Given the description of an element on the screen output the (x, y) to click on. 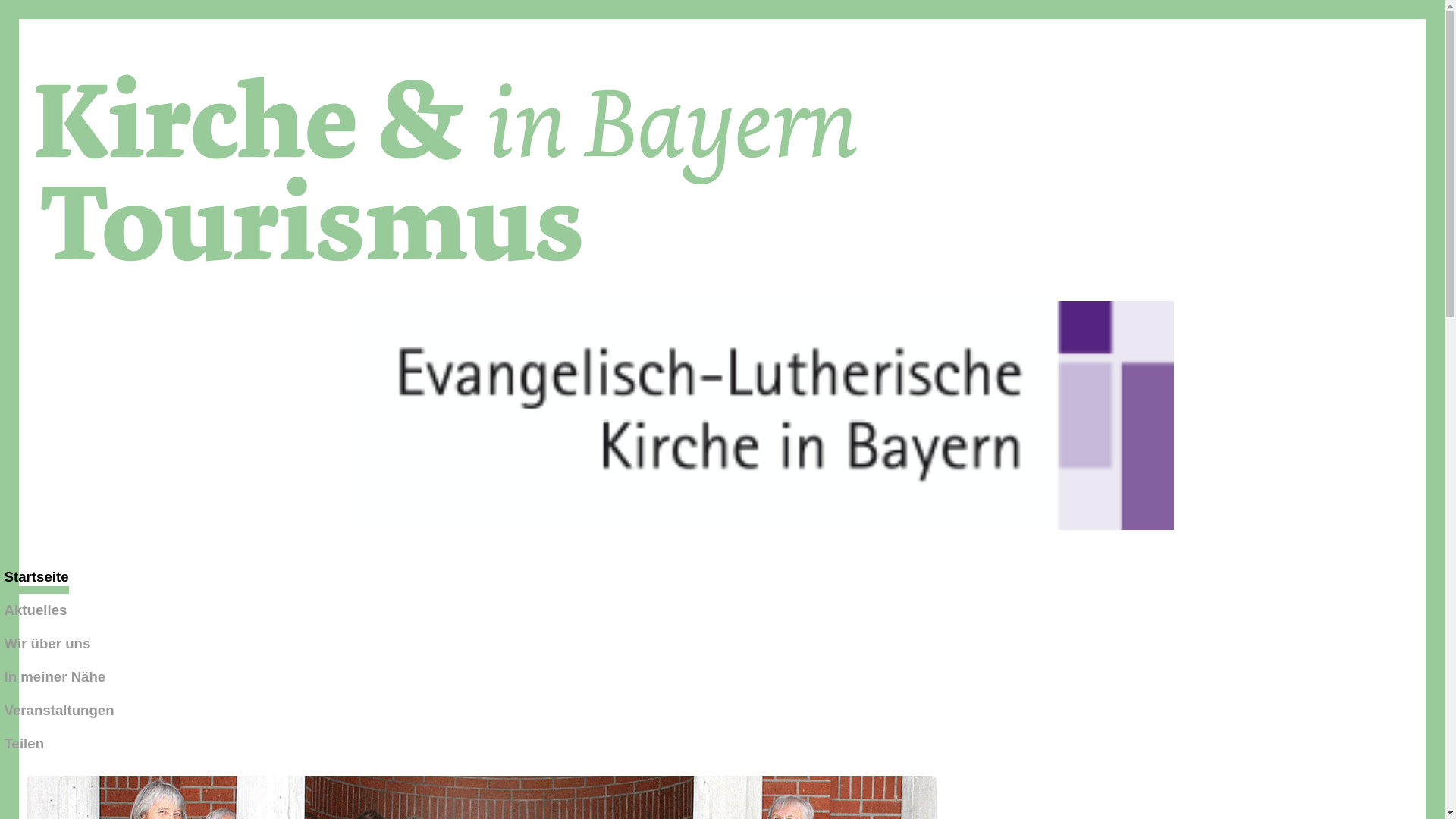
Aktuelles Element type: text (35, 610)
Startseite Element type: hover (446, 260)
Startseite Element type: text (36, 580)
Veranstaltungen Element type: text (59, 710)
Direkt zum Inhalt Element type: text (722, 19)
Teilen Element type: text (24, 743)
